Given the description of an element on the screen output the (x, y) to click on. 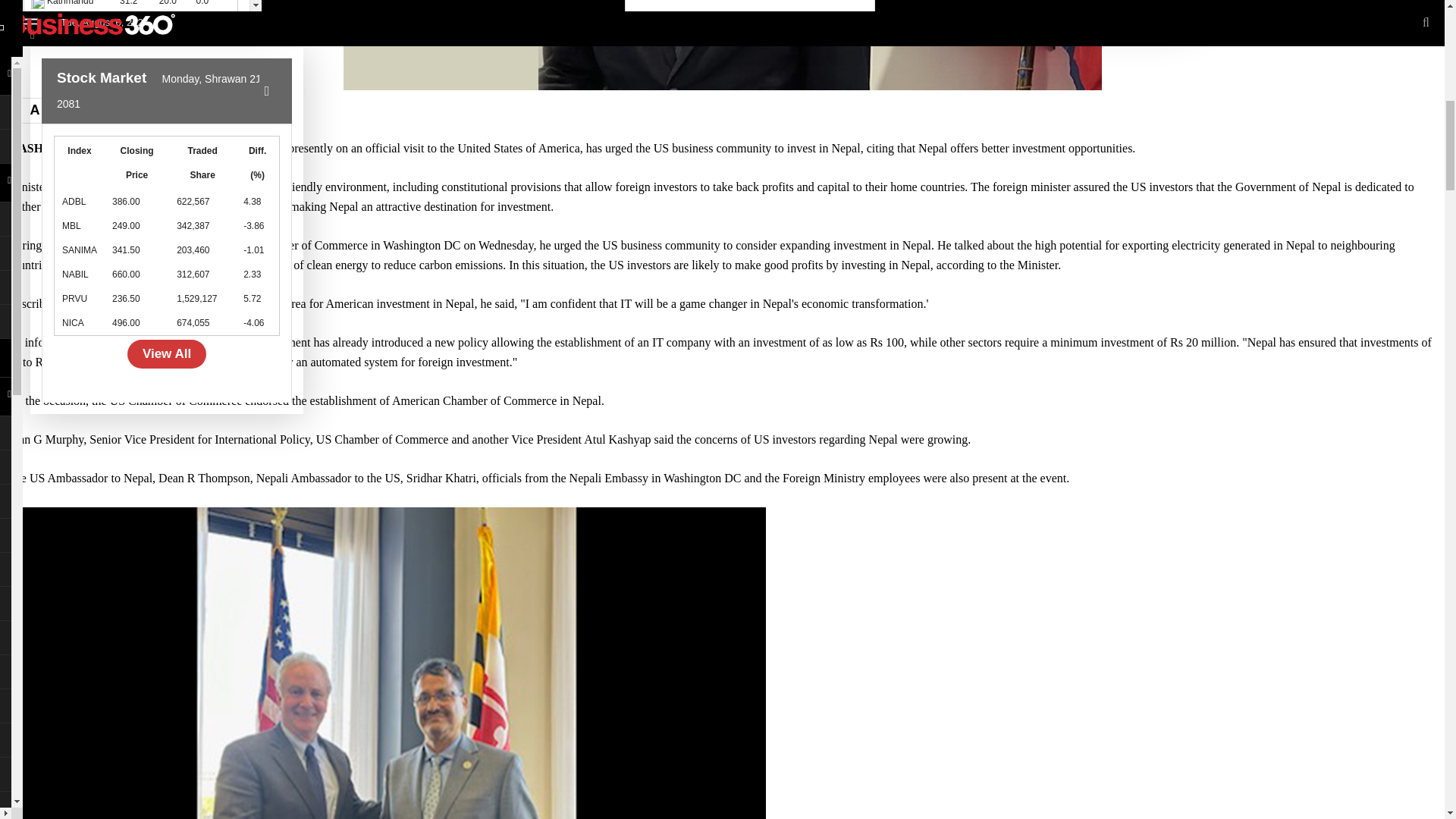
BitsNBytes (5, 2)
BitsNBytes (5, 2)
